Given the description of an element on the screen output the (x, y) to click on. 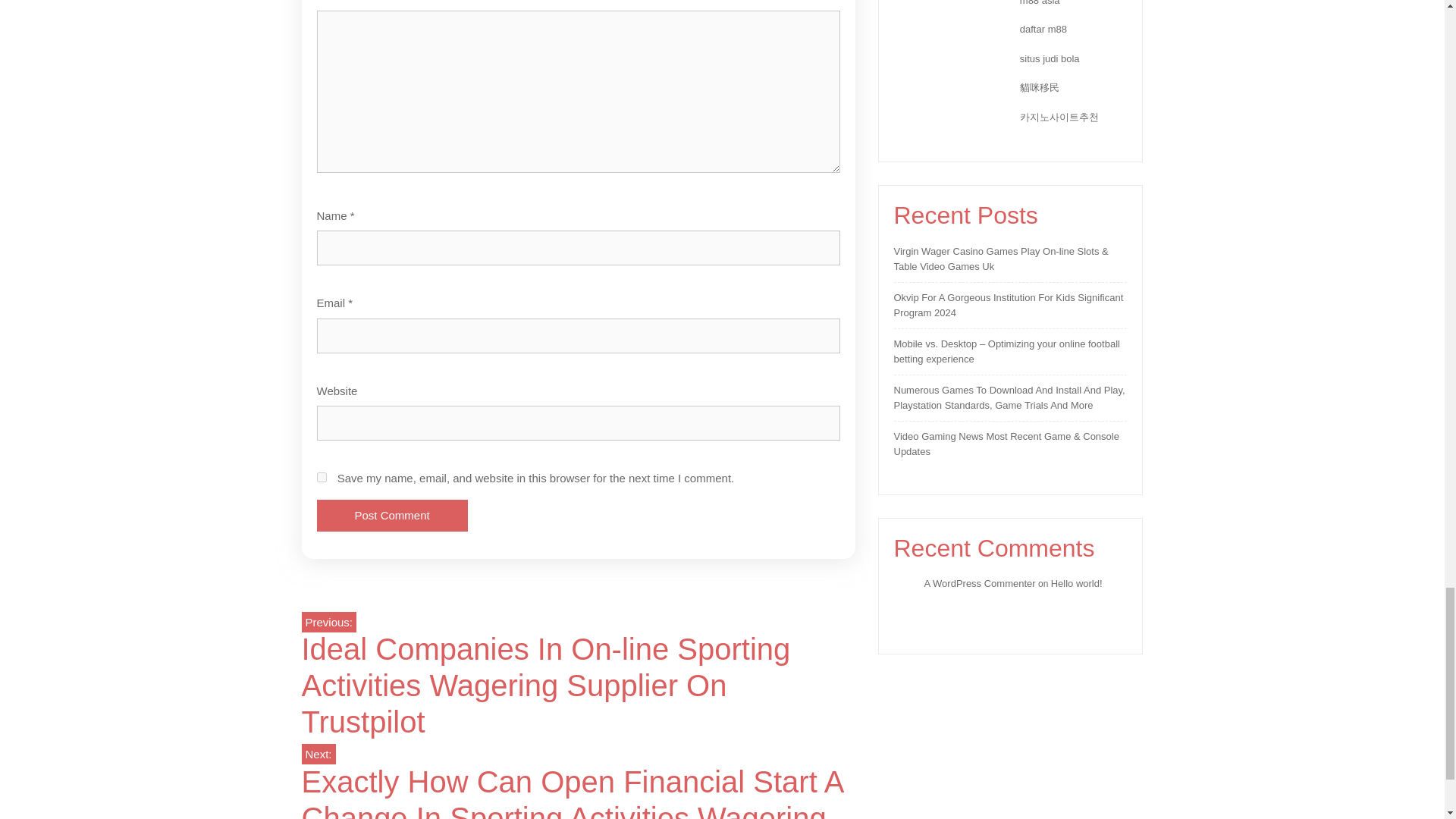
Post Comment (392, 515)
yes (321, 477)
Post Comment (392, 515)
